Given the description of an element on the screen output the (x, y) to click on. 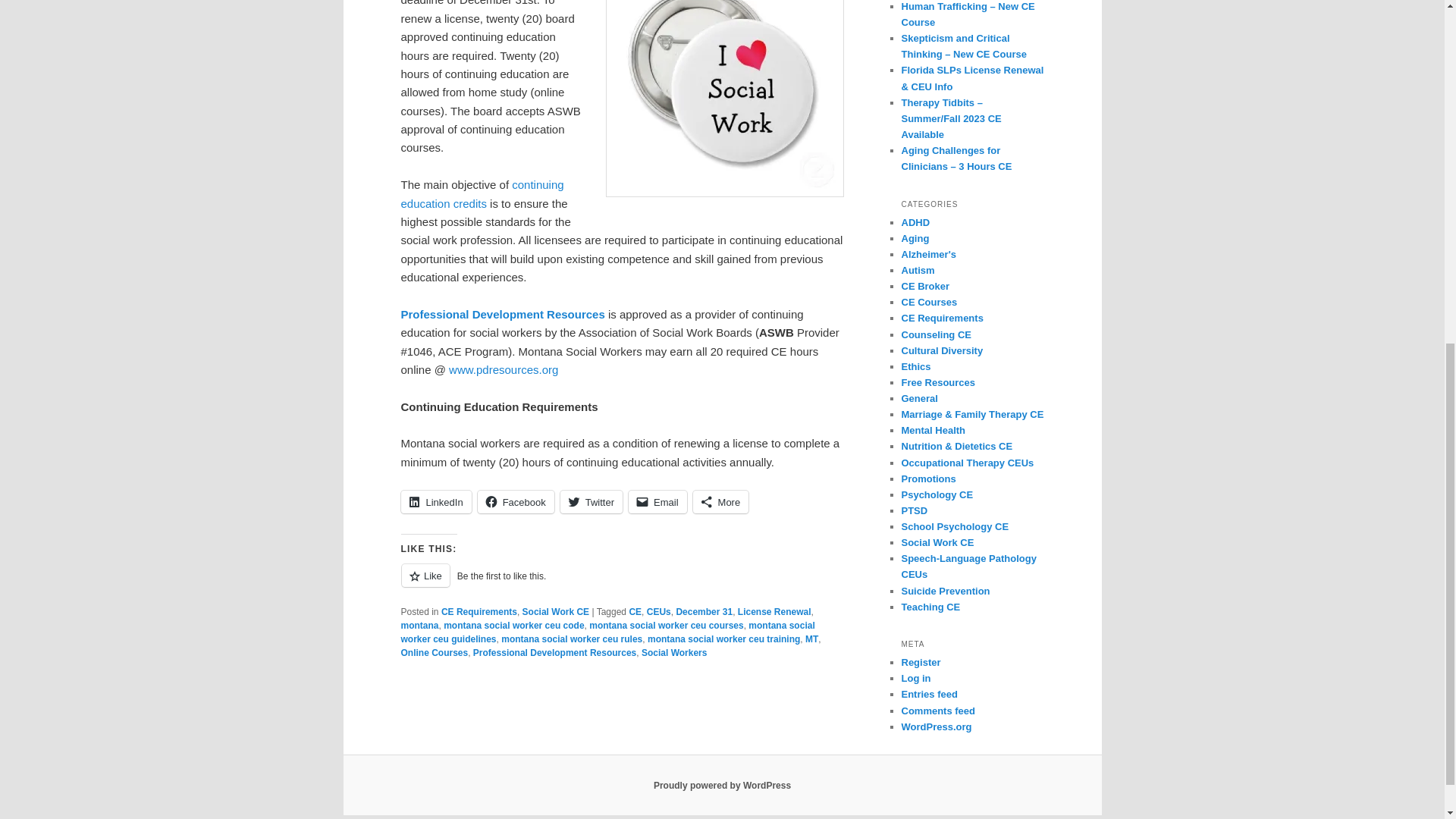
Click to share on Facebook (515, 501)
December 31 (703, 611)
Professional Development Resources (502, 314)
Facebook (515, 501)
montana social worker ceu training (723, 638)
Click to email a link to a friend (657, 501)
montana social worker ce requirements (724, 98)
montana social worker ceu rules (571, 638)
Social Work CE (555, 611)
CE (635, 611)
